Given the description of an element on the screen output the (x, y) to click on. 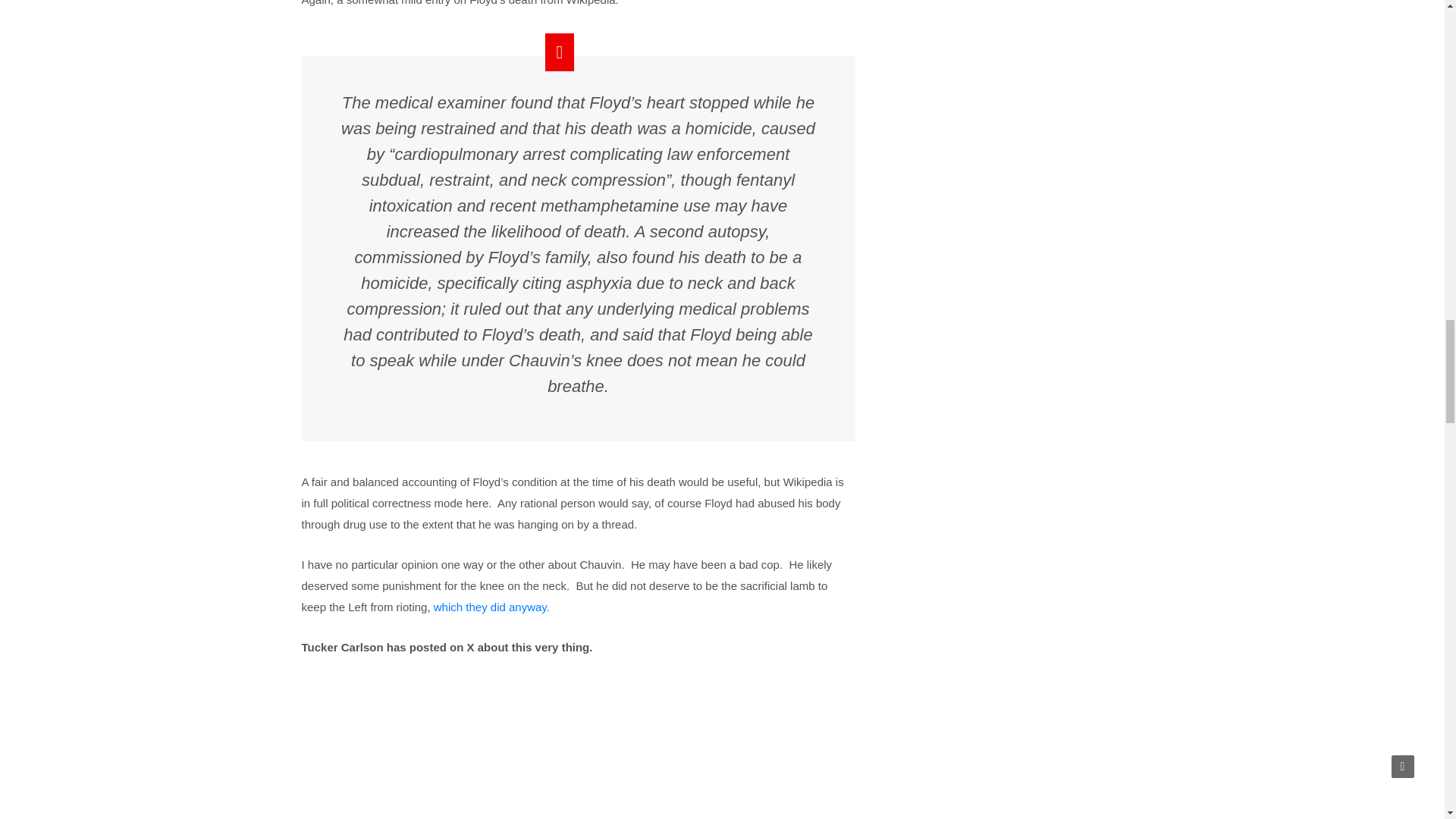
which they did anyway (490, 606)
